Given the description of an element on the screen output the (x, y) to click on. 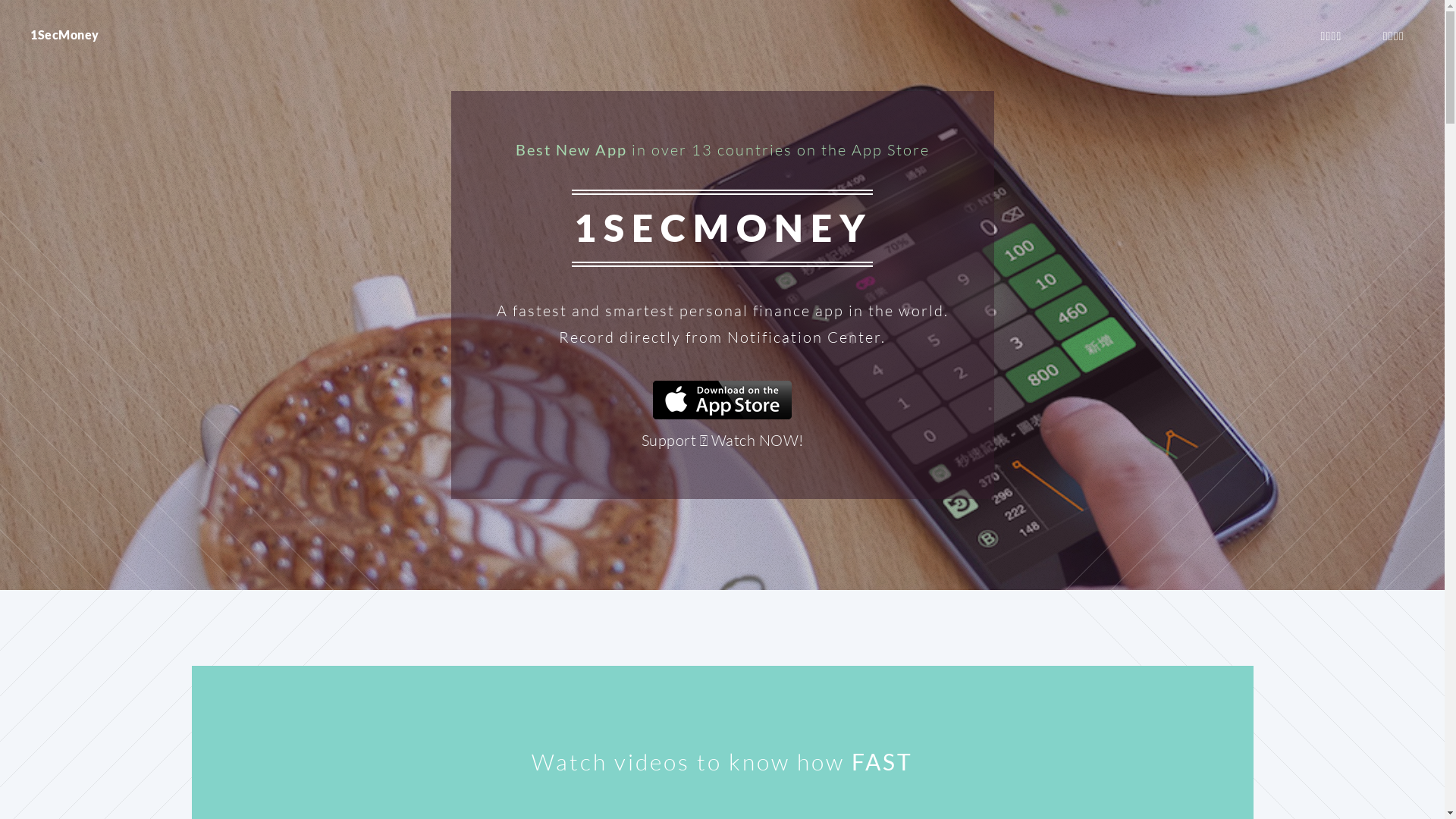
1SecMoney Element type: text (64, 34)
